Given the description of an element on the screen output the (x, y) to click on. 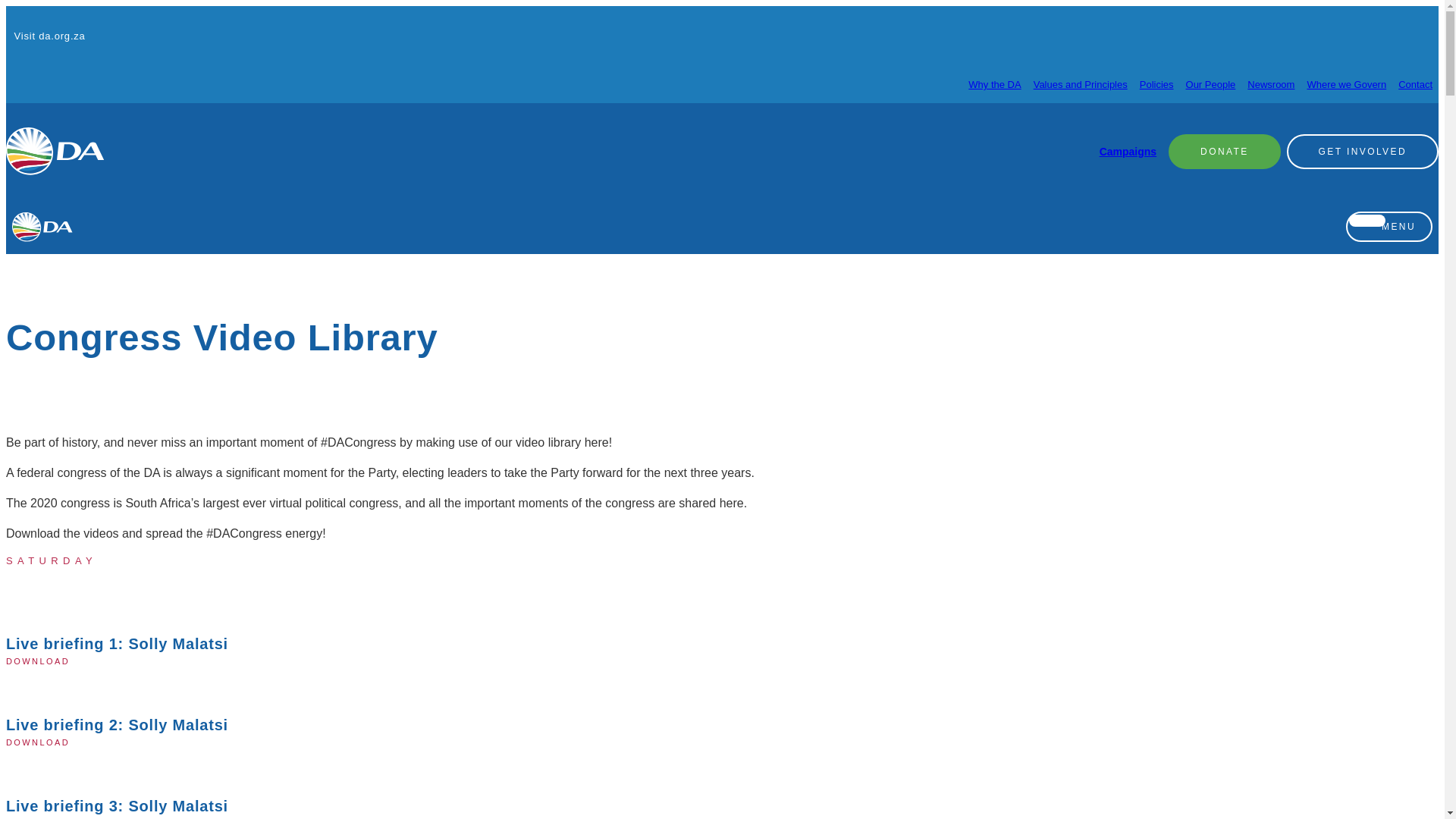
Our People (1211, 84)
DONATE (1225, 150)
Democratic Alliance Logo (54, 151)
Campaigns (1127, 151)
DONATE (1225, 150)
Newsroom (1270, 84)
DOWNLOAD (41, 659)
Donate (1225, 150)
Visit da.org.za (45, 35)
Where we Govern (1346, 84)
